Given the description of an element on the screen output the (x, y) to click on. 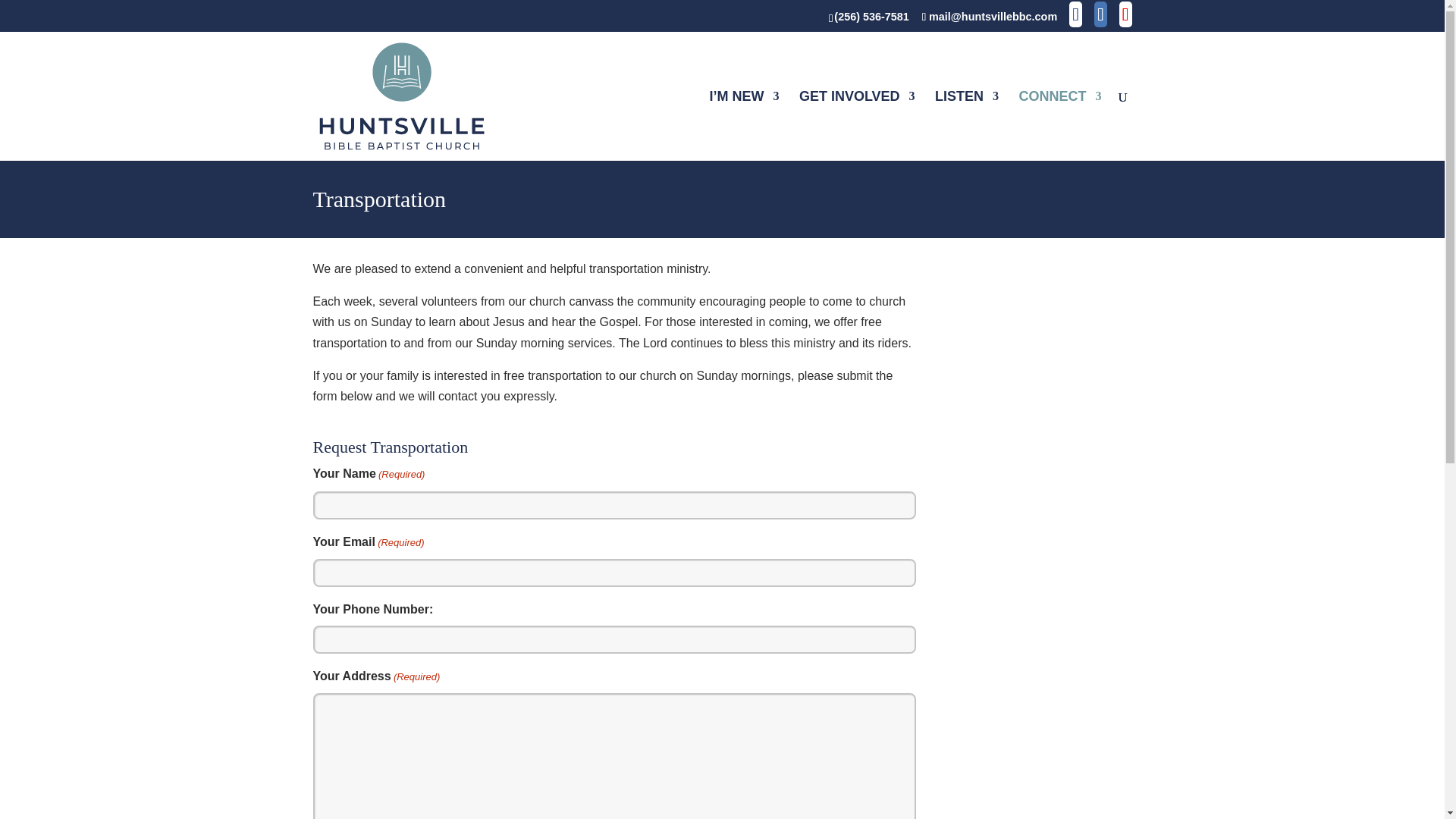
CONNECT (1060, 125)
LISTEN (966, 125)
GET INVOLVED (857, 125)
